Given the description of an element on the screen output the (x, y) to click on. 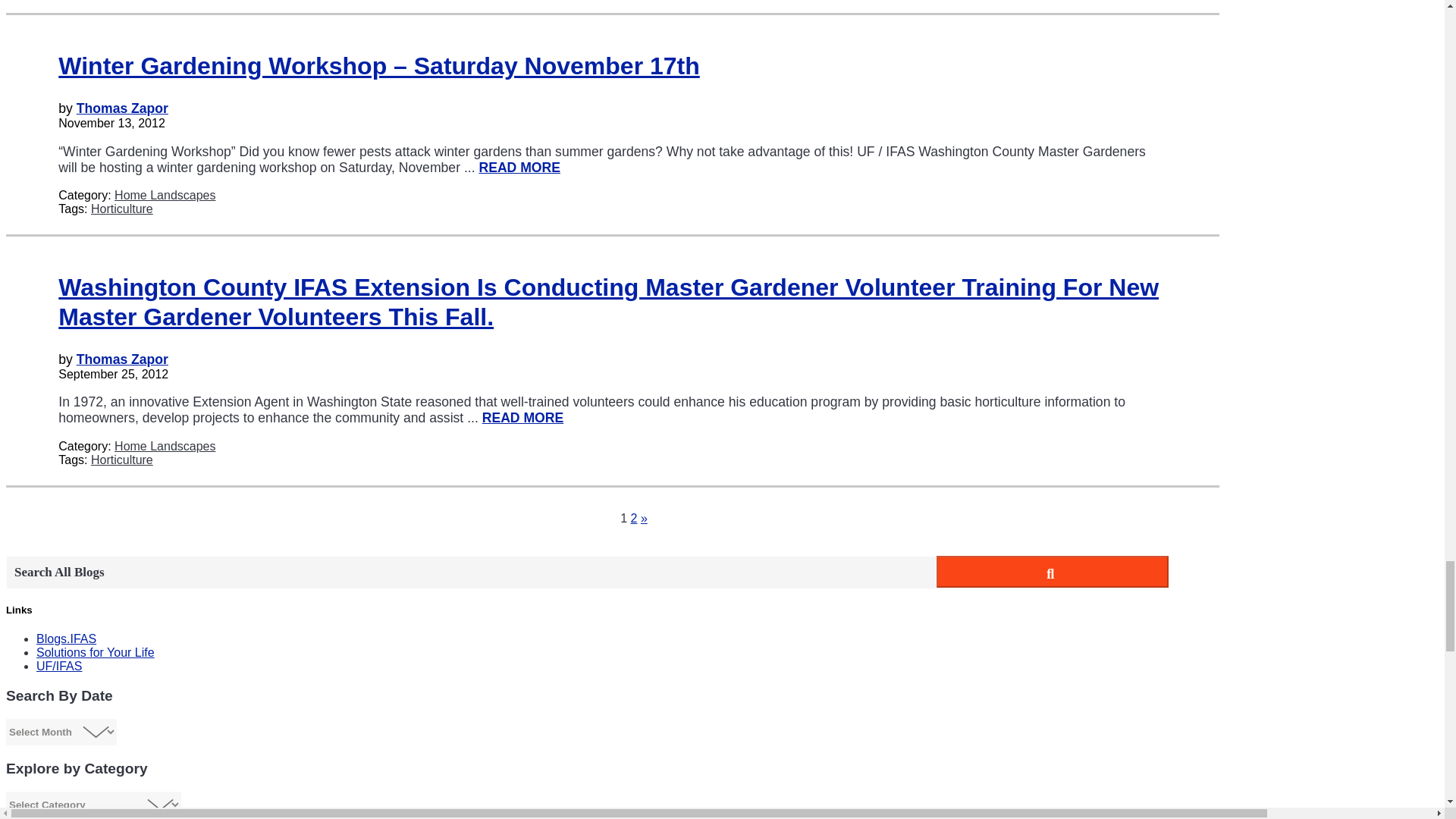
Search All Blogs (470, 572)
